Given the description of an element on the screen output the (x, y) to click on. 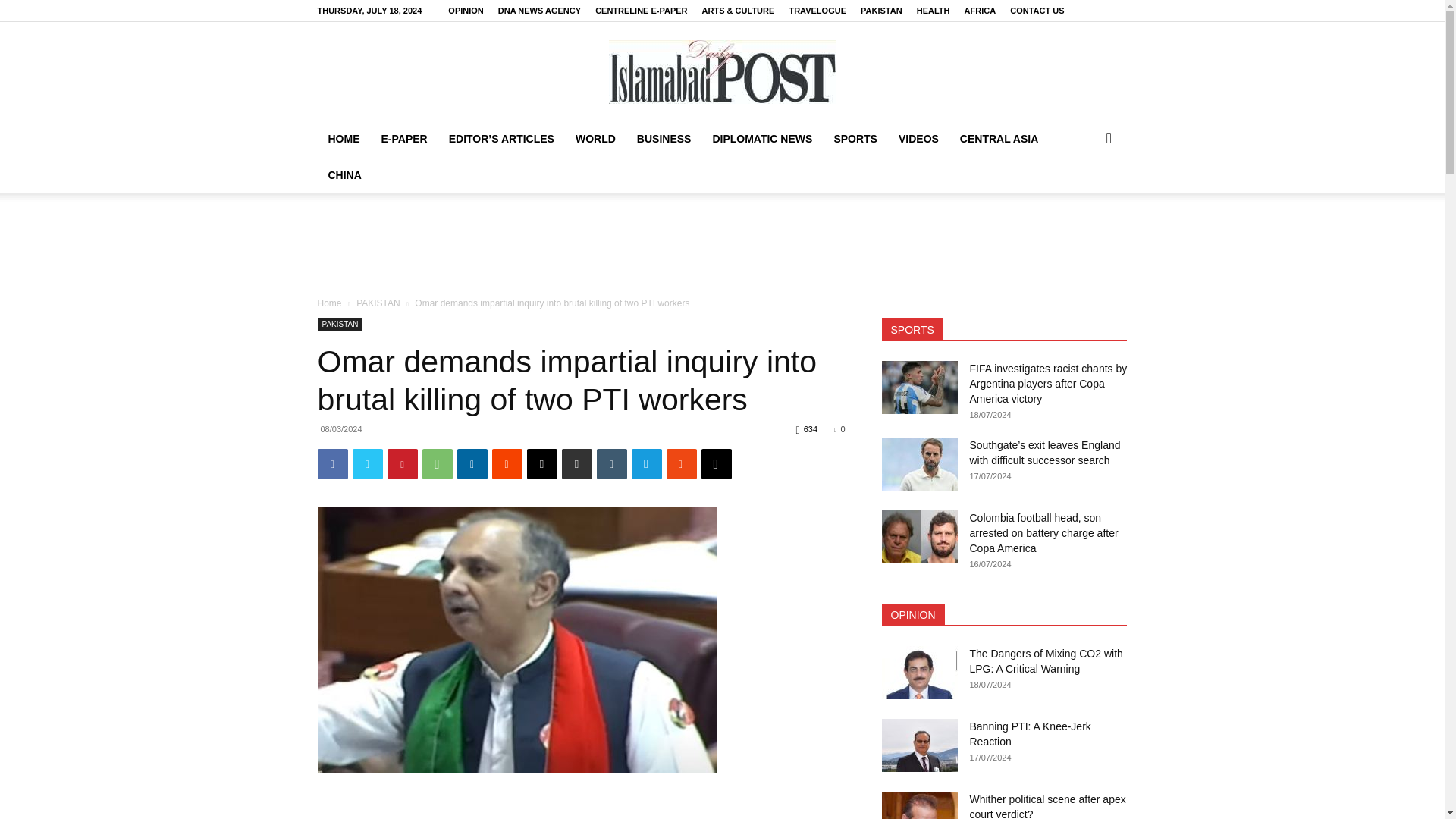
Linkedin (471, 463)
Islamabad Post (721, 72)
OPINION (465, 10)
BUSINESS (663, 138)
SPORTS (855, 138)
CONTACT US (1037, 10)
Pinterest (401, 463)
PAKISTAN (881, 10)
WORLD (595, 138)
DNA NEWS AGENCY (538, 10)
AFRICA (979, 10)
View all posts in PAKISTAN (378, 303)
CENTRELINE E-PAPER (641, 10)
HEALTH (933, 10)
